Given the description of an element on the screen output the (x, y) to click on. 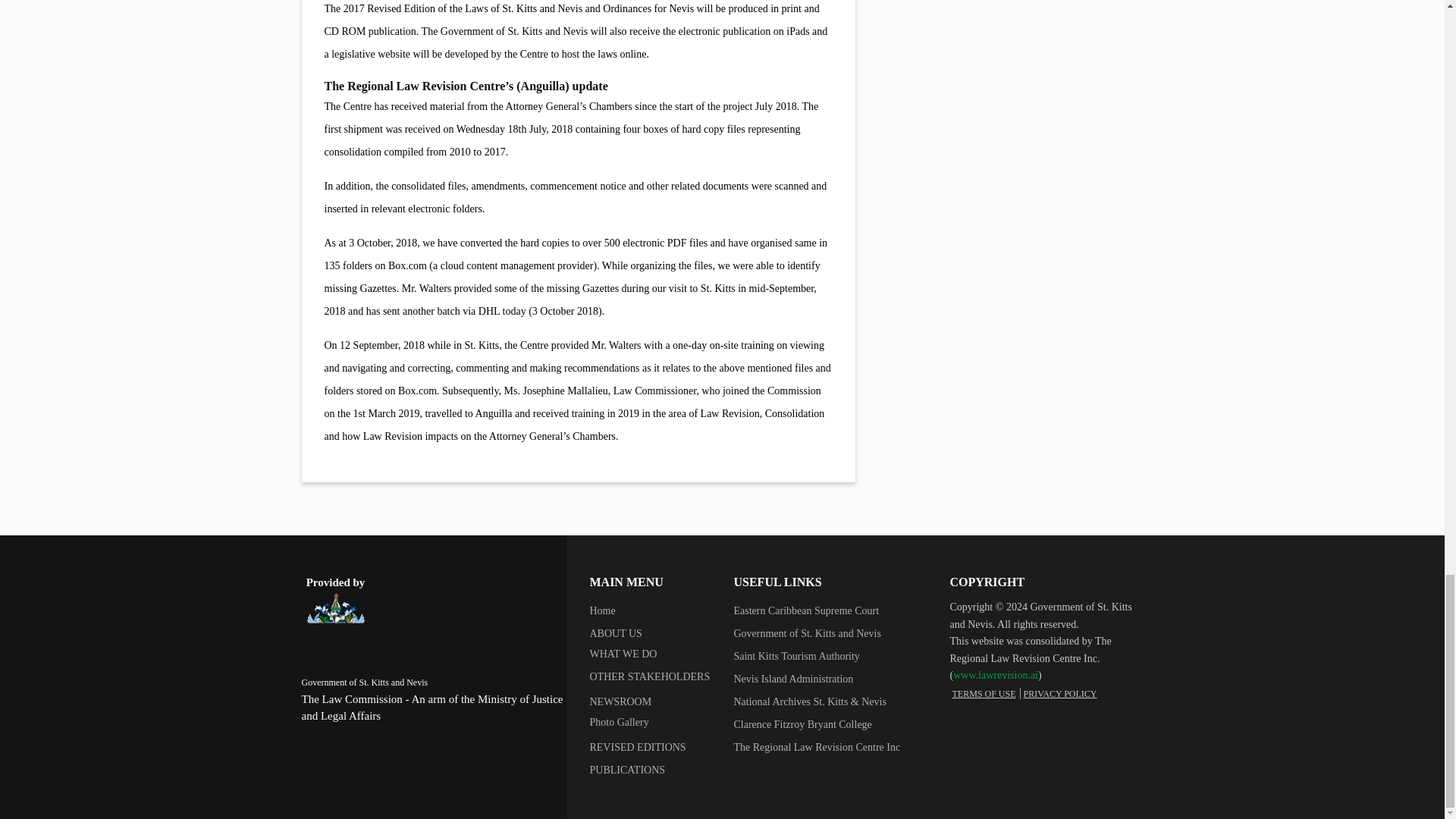
Clarence Fitzroy Bryant College (801, 724)
OTHER STAKEHOLDERS (649, 676)
Photo Gallery (618, 722)
NEWSROOM (619, 701)
WHAT WE DO (622, 654)
Saint Kitts Tourism Authority (796, 655)
REVISED EDITIONS (637, 747)
The Regional Law Revision Centre Inc (816, 747)
Nevis Island Administration (793, 678)
Home (601, 610)
